Given the description of an element on the screen output the (x, y) to click on. 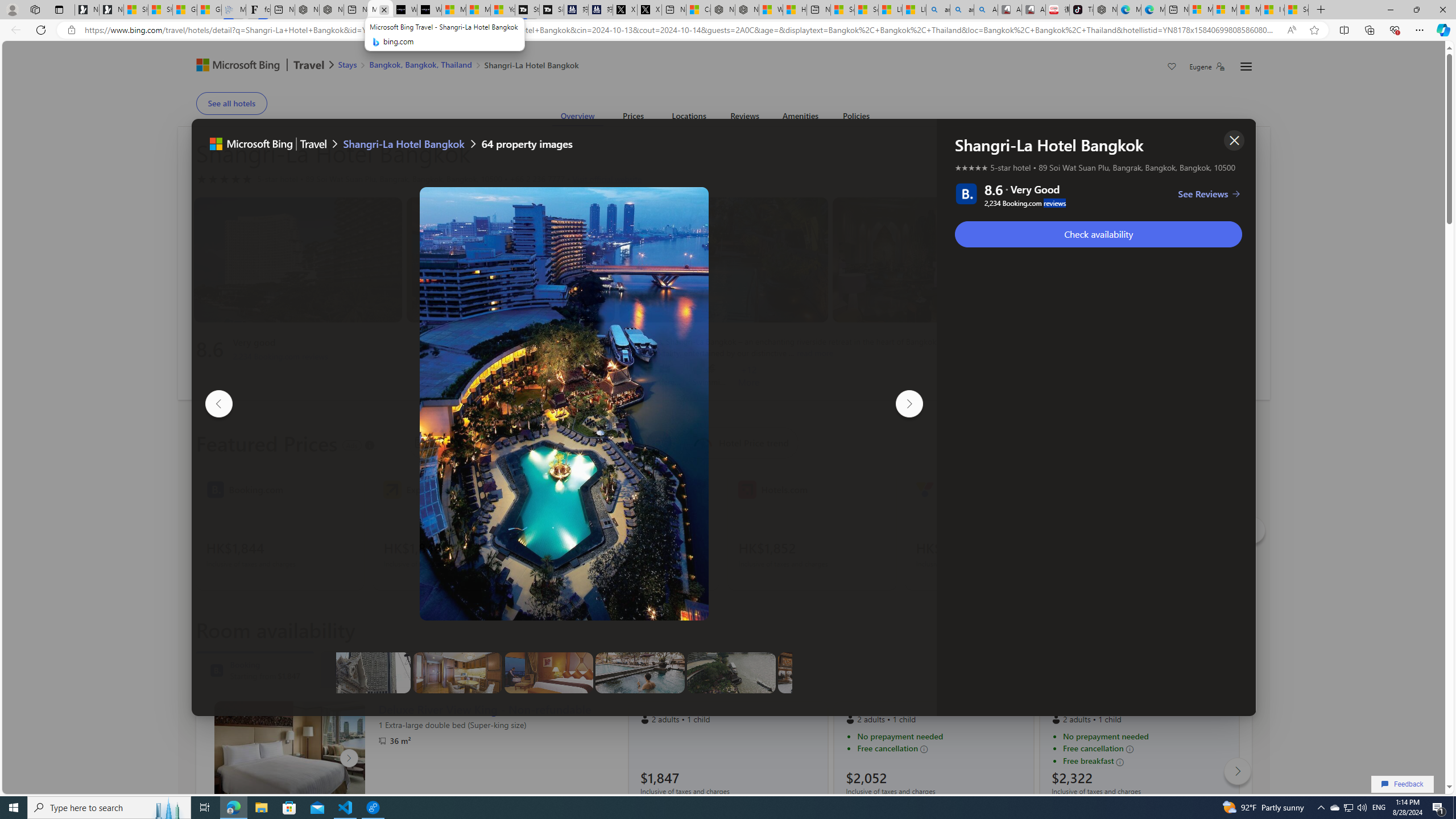
Nordace - #1 Japanese Best-Seller - Siena Smart Backpack (330, 9)
amazon - Search Images (961, 9)
Amazon Echo Robot - Search Images (986, 9)
